Given the description of an element on the screen output the (x, y) to click on. 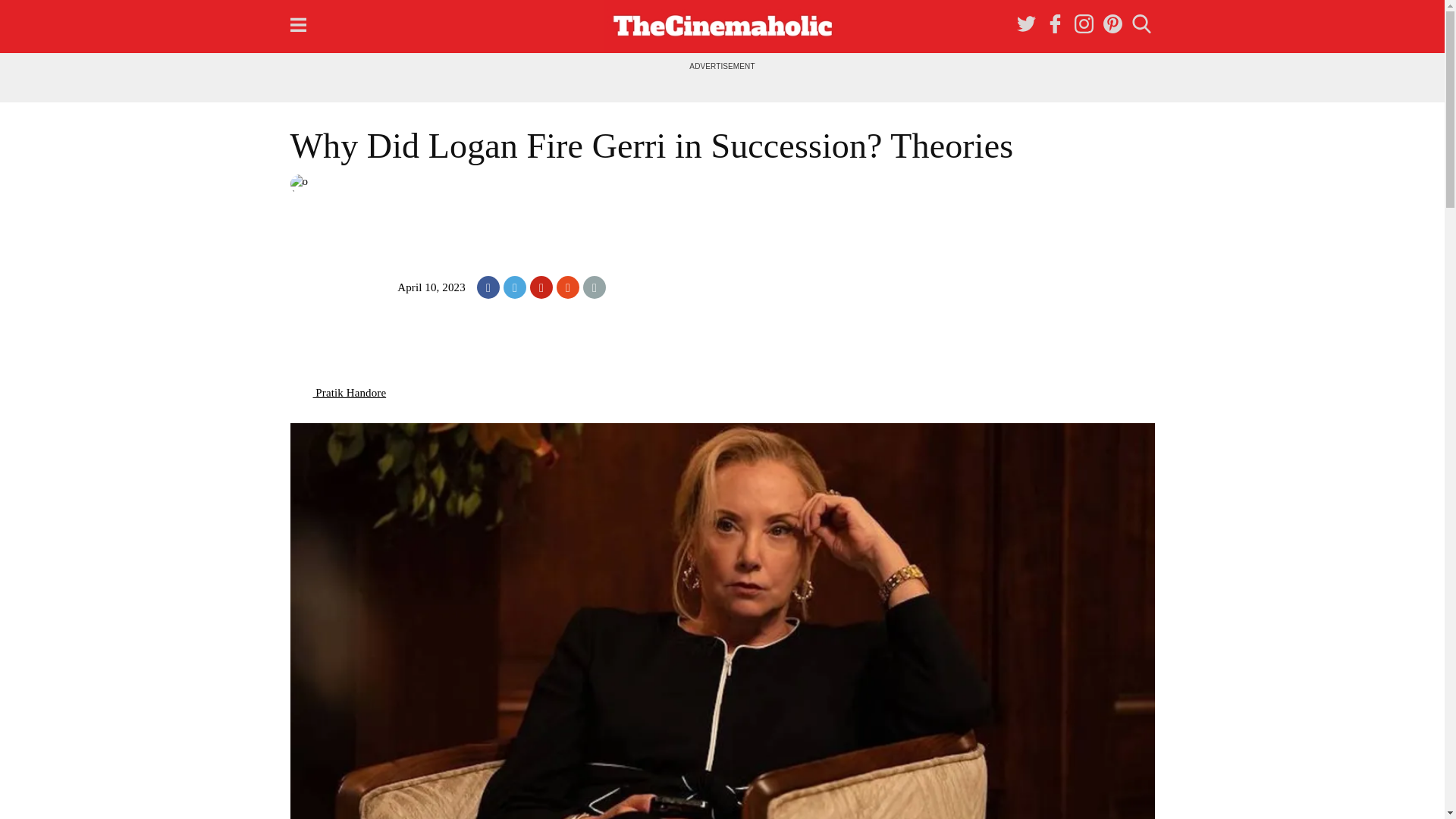
Pratik Handore (337, 392)
